Given the description of an element on the screen output the (x, y) to click on. 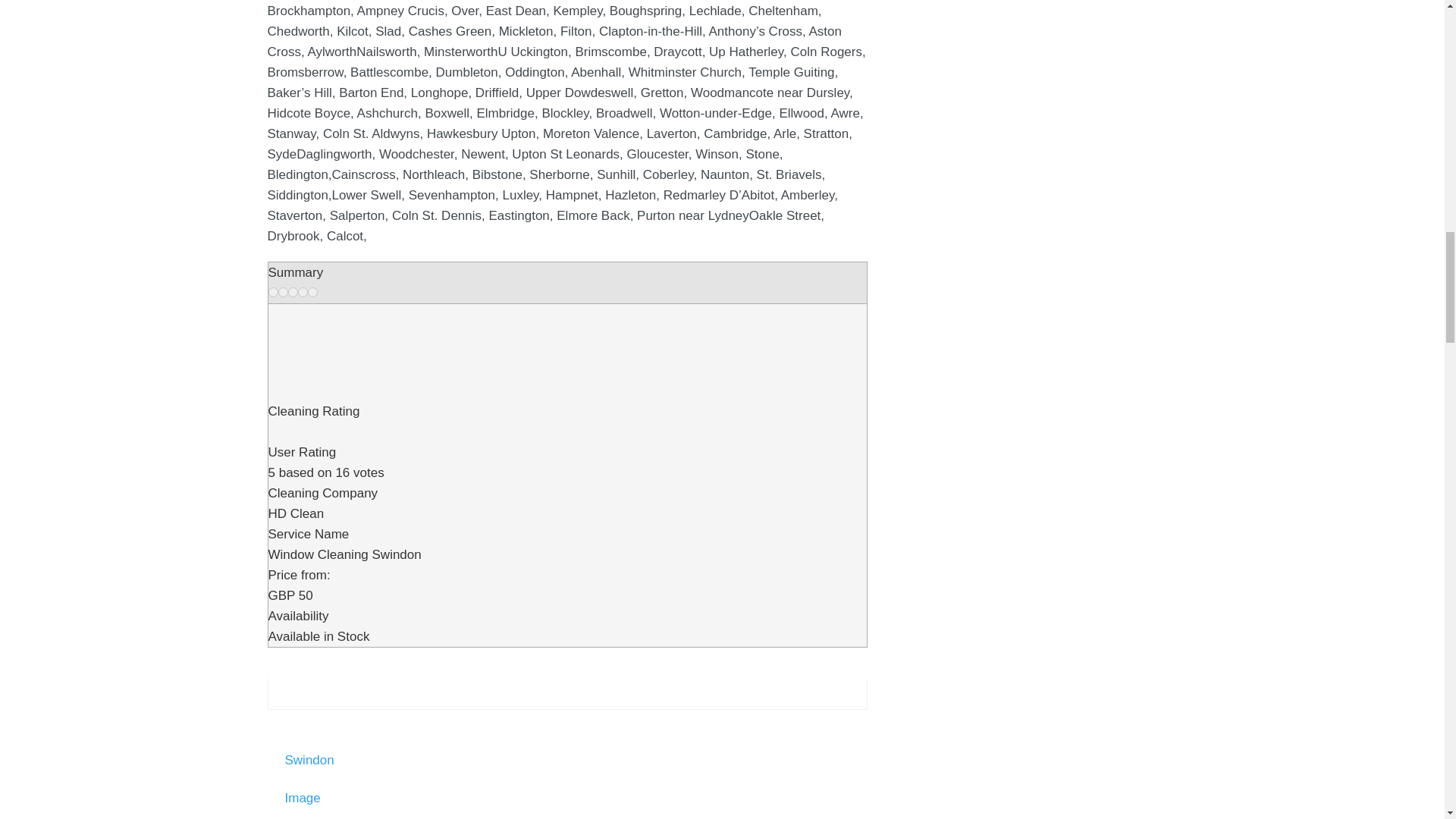
2 (282, 292)
1 (272, 292)
3 (293, 292)
4 (302, 292)
5 (312, 292)
